Given the description of an element on the screen output the (x, y) to click on. 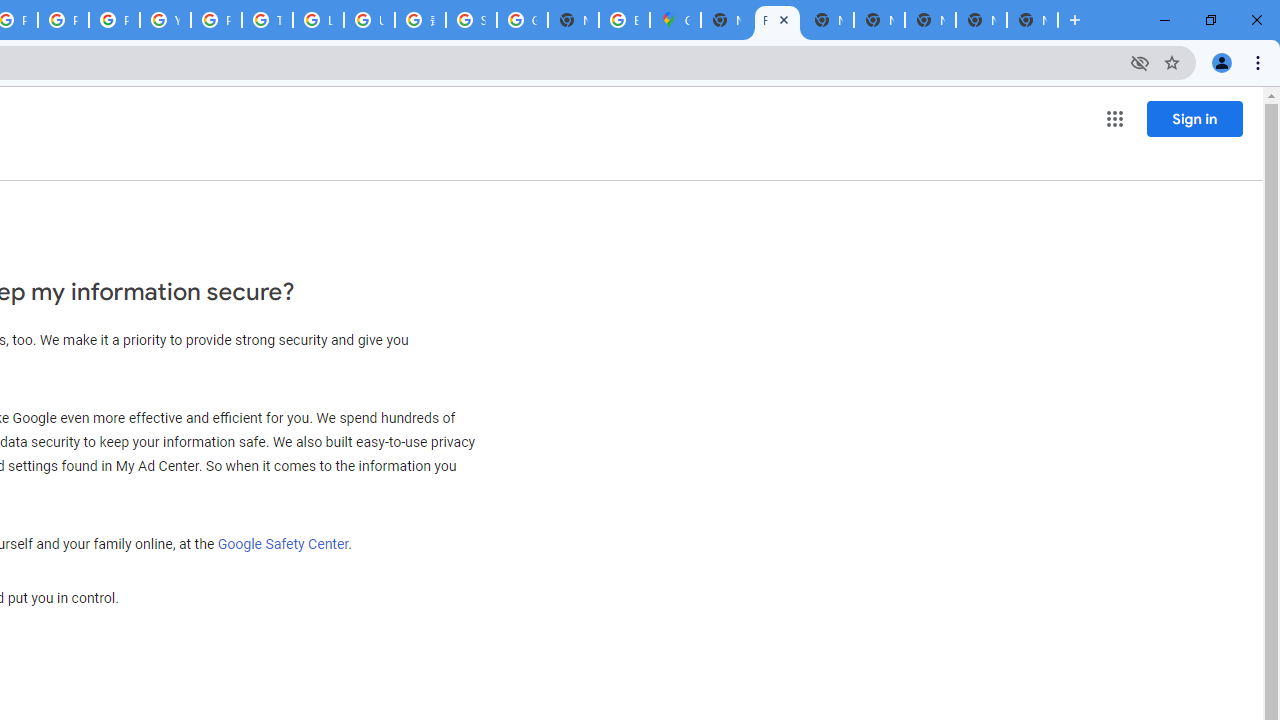
New Tab (1032, 20)
Google Maps (675, 20)
New Tab (726, 20)
YouTube (164, 20)
Privacy Help Center - Policies Help (63, 20)
Tips & tricks for Chrome - Google Chrome Help (267, 20)
Sign in - Google Accounts (470, 20)
